Given the description of an element on the screen output the (x, y) to click on. 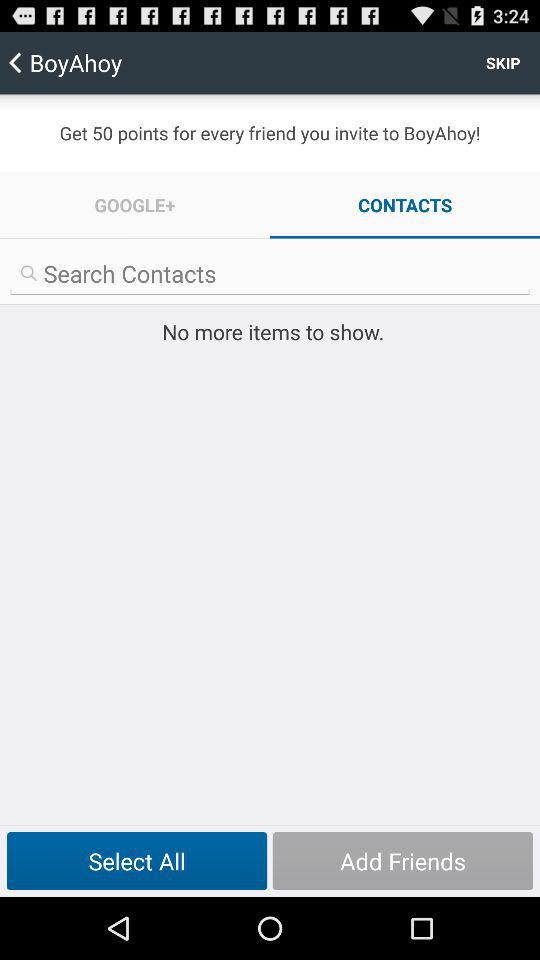
turn off item at the bottom right corner (402, 861)
